Given the description of an element on the screen output the (x, y) to click on. 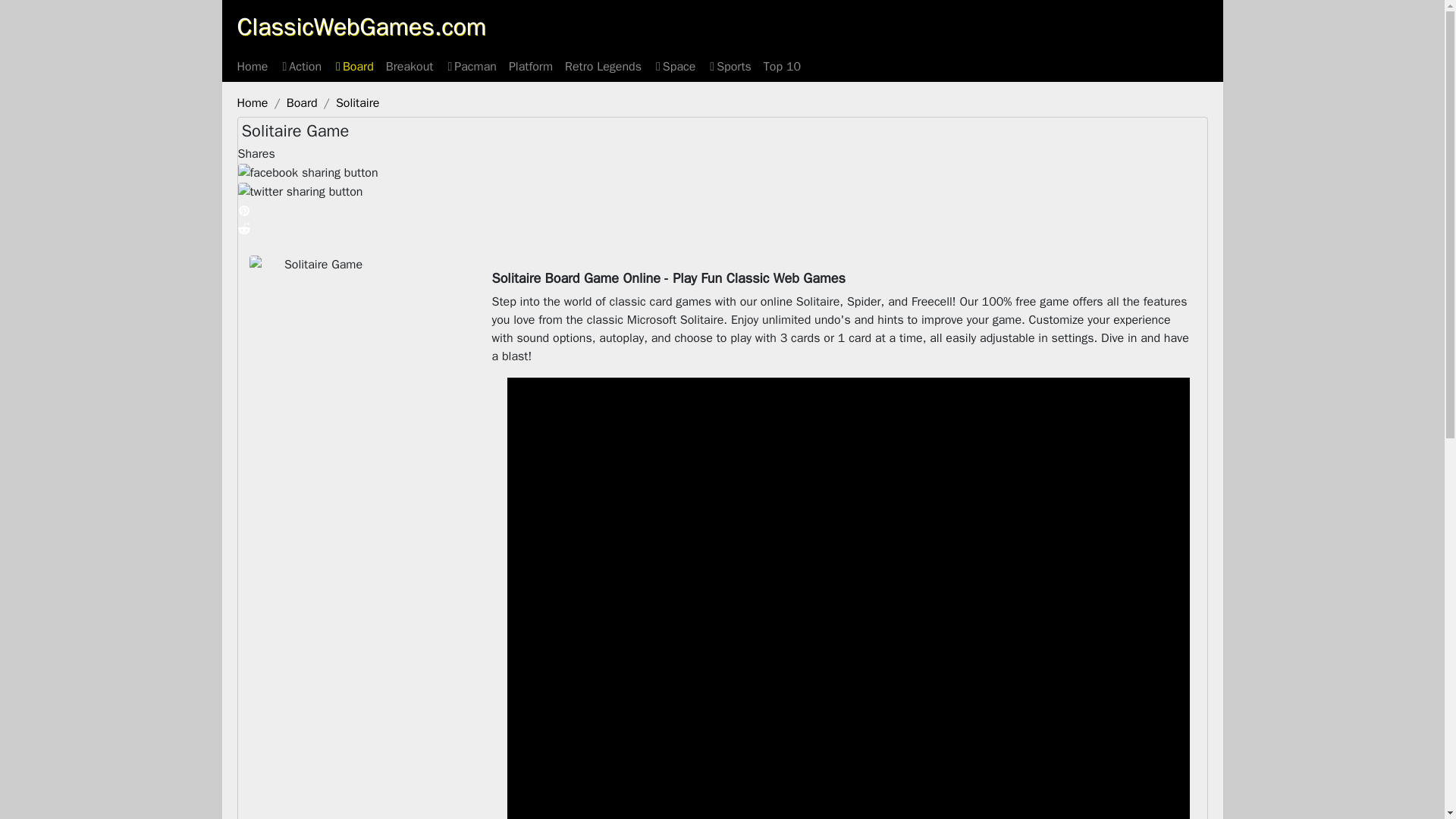
Board (353, 66)
Space (674, 66)
Solitaire Game Image (316, 306)
Solitaire (357, 102)
Home (251, 102)
Action (300, 66)
ClassicWebGames.com (361, 27)
Home (251, 66)
Sports (729, 66)
Breakout (409, 66)
